Given the description of an element on the screen output the (x, y) to click on. 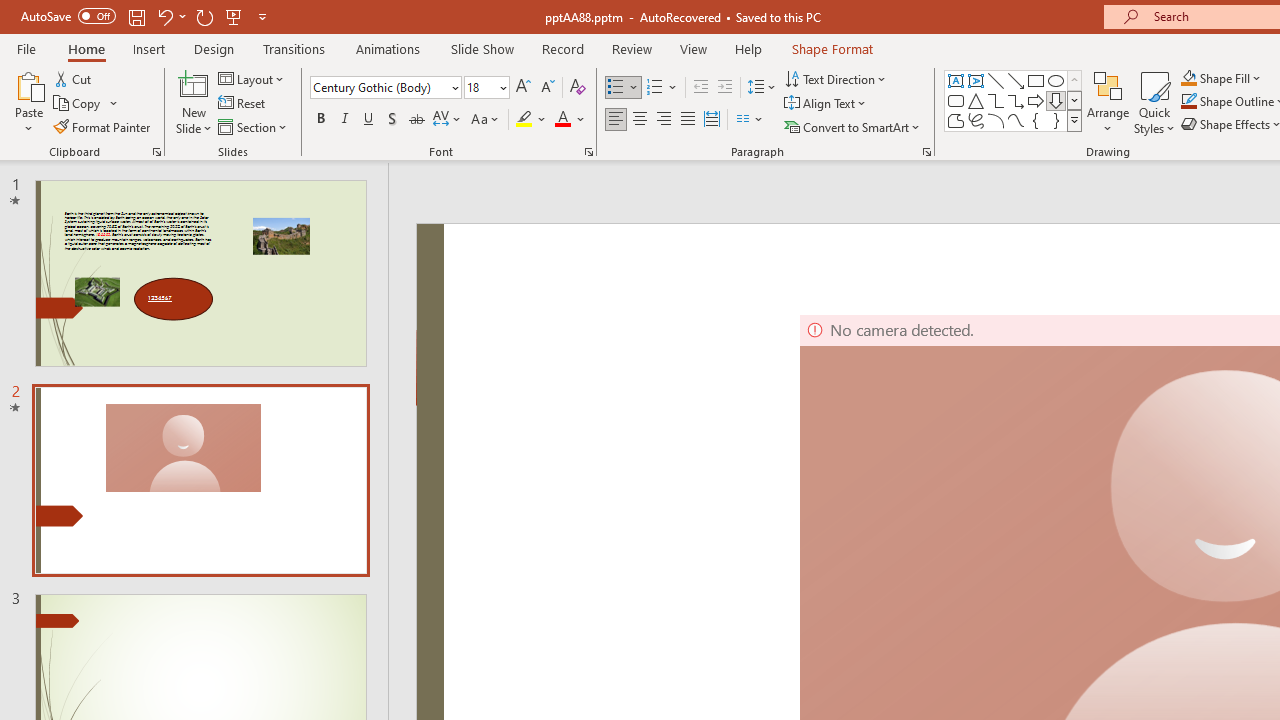
Align Left (616, 119)
Text Highlight Color (531, 119)
Columns (750, 119)
Text Direction (836, 78)
Row Down (1074, 100)
File Tab (26, 48)
Cut (73, 78)
Shadow (392, 119)
Rectangle (1035, 80)
Rectangle: Rounded Corners (955, 100)
Distributed (712, 119)
Design (214, 48)
Freeform: Shape (955, 120)
Customize Quick Access Toolbar (262, 15)
Increase Indent (725, 87)
